Given the description of an element on the screen output the (x, y) to click on. 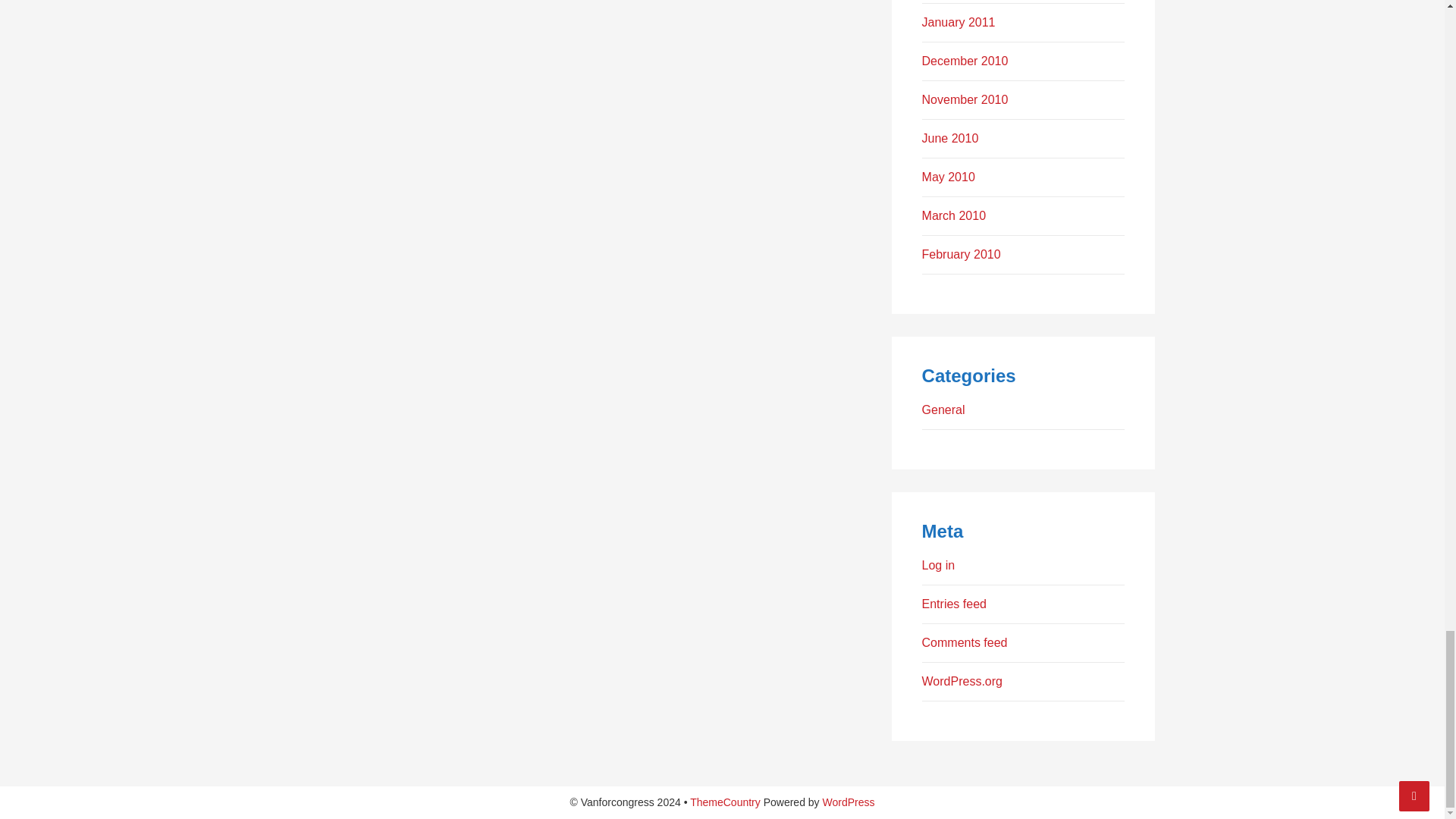
BasePress - The best free WordPress blog theme for WordPress (725, 802)
